Given the description of an element on the screen output the (x, y) to click on. 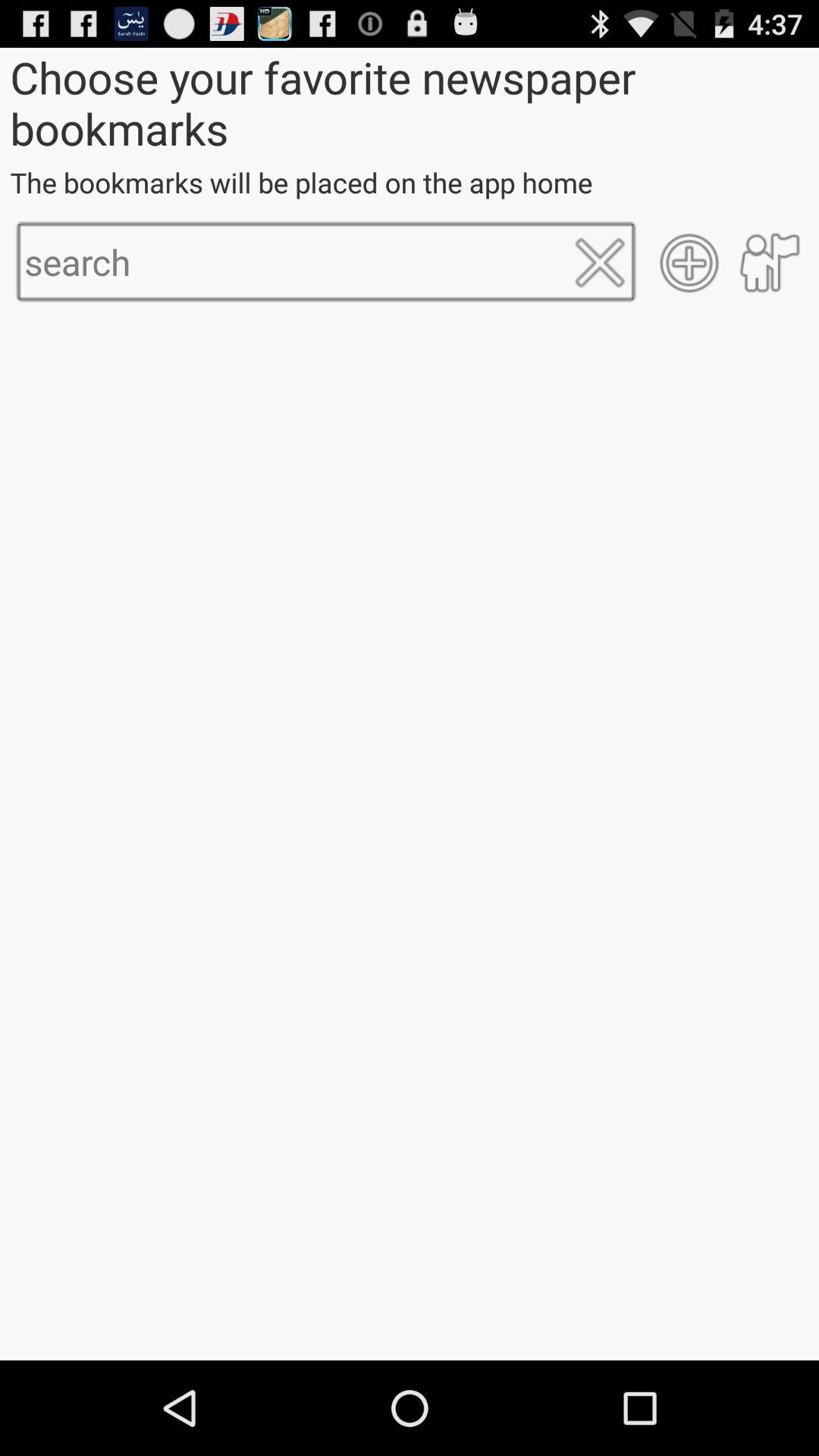
launch item at the center (409, 839)
